Given the description of an element on the screen output the (x, y) to click on. 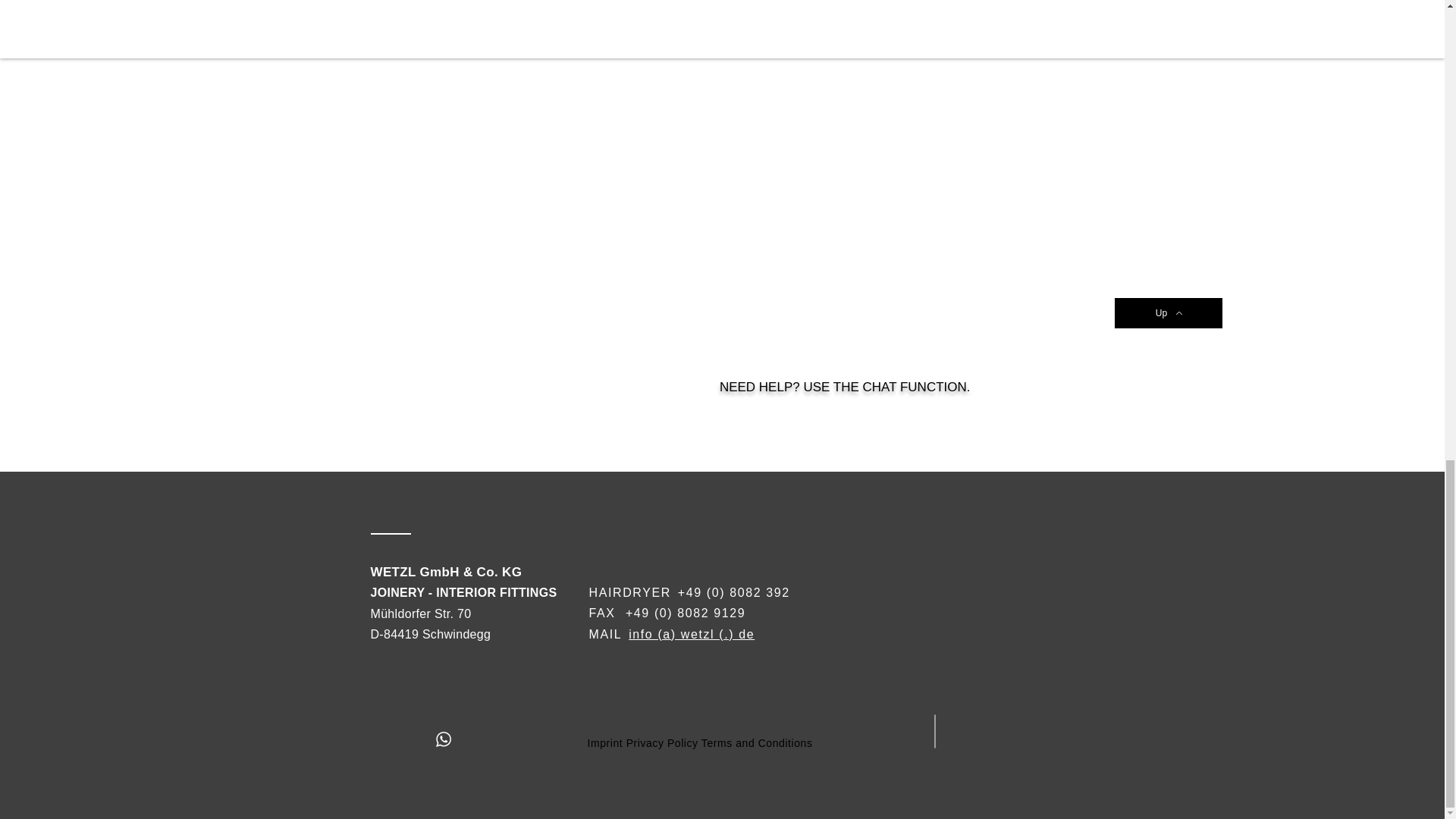
Imprint (604, 743)
Policy Terms and Conditions (739, 743)
MAIL (604, 634)
Up (1169, 313)
Privacy (644, 743)
